Given the description of an element on the screen output the (x, y) to click on. 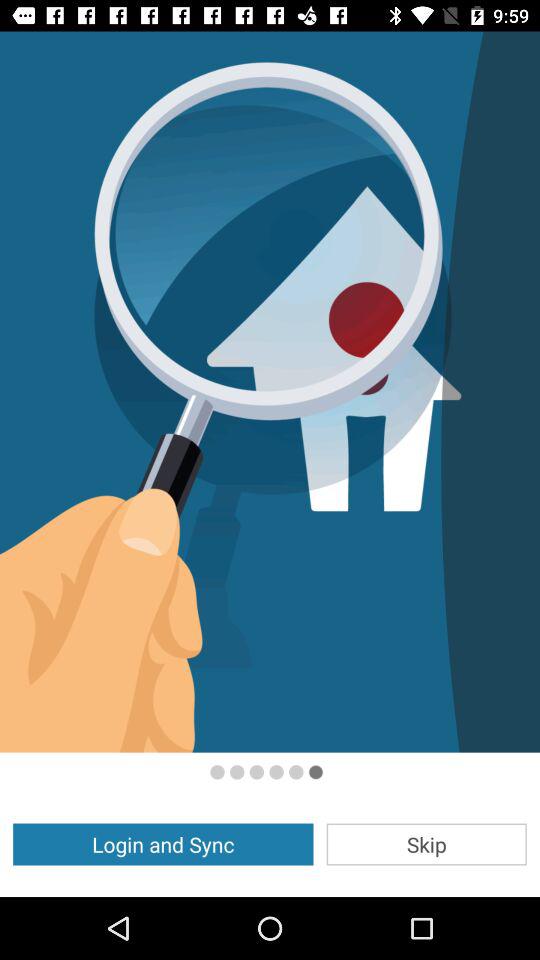
launch the login and sync icon (163, 844)
